Given the description of an element on the screen output the (x, y) to click on. 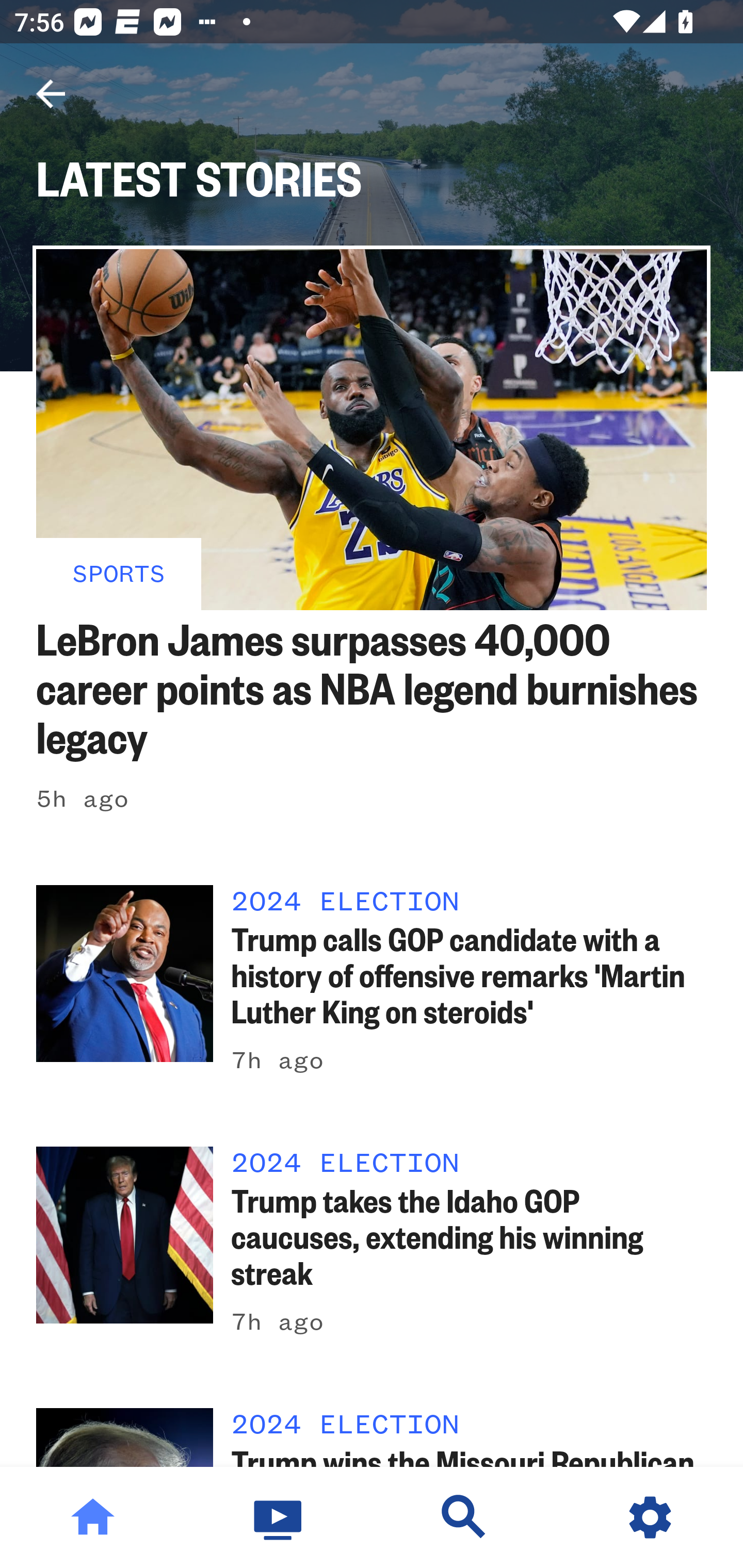
Navigate up (50, 93)
Watch (278, 1517)
Discover (464, 1517)
Settings (650, 1517)
